Given the description of an element on the screen output the (x, y) to click on. 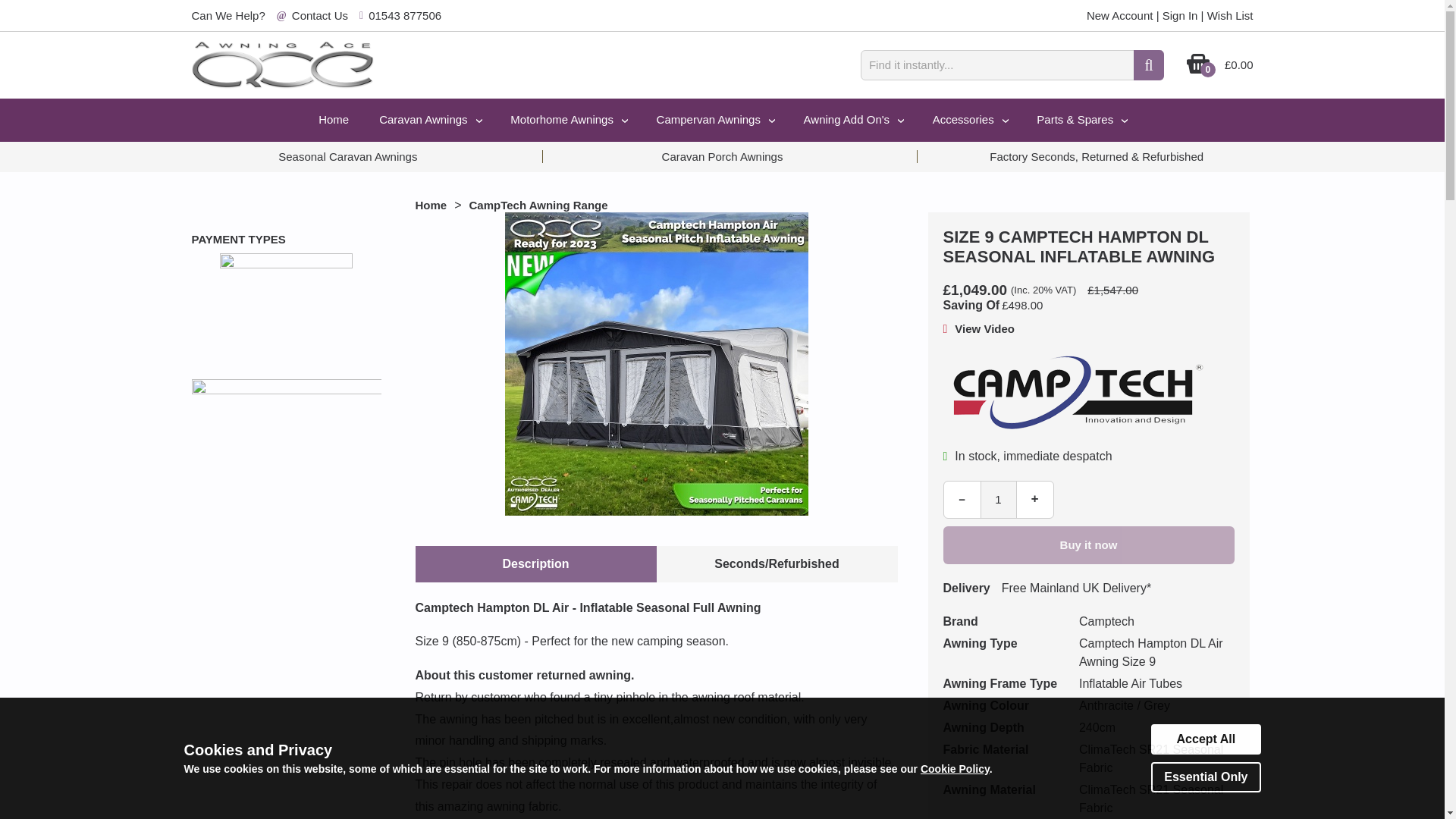
Accessories (969, 119)
0 (1197, 70)
Motorhome Awnings (567, 119)
Sign In (1179, 15)
Wish List (1230, 15)
1 (997, 498)
Size 9 Camptech Hampton DL Seasonal Inflatable Awning (984, 327)
Contact Us (319, 15)
Caravan Awnings (429, 119)
Go (1148, 64)
